Given the description of an element on the screen output the (x, y) to click on. 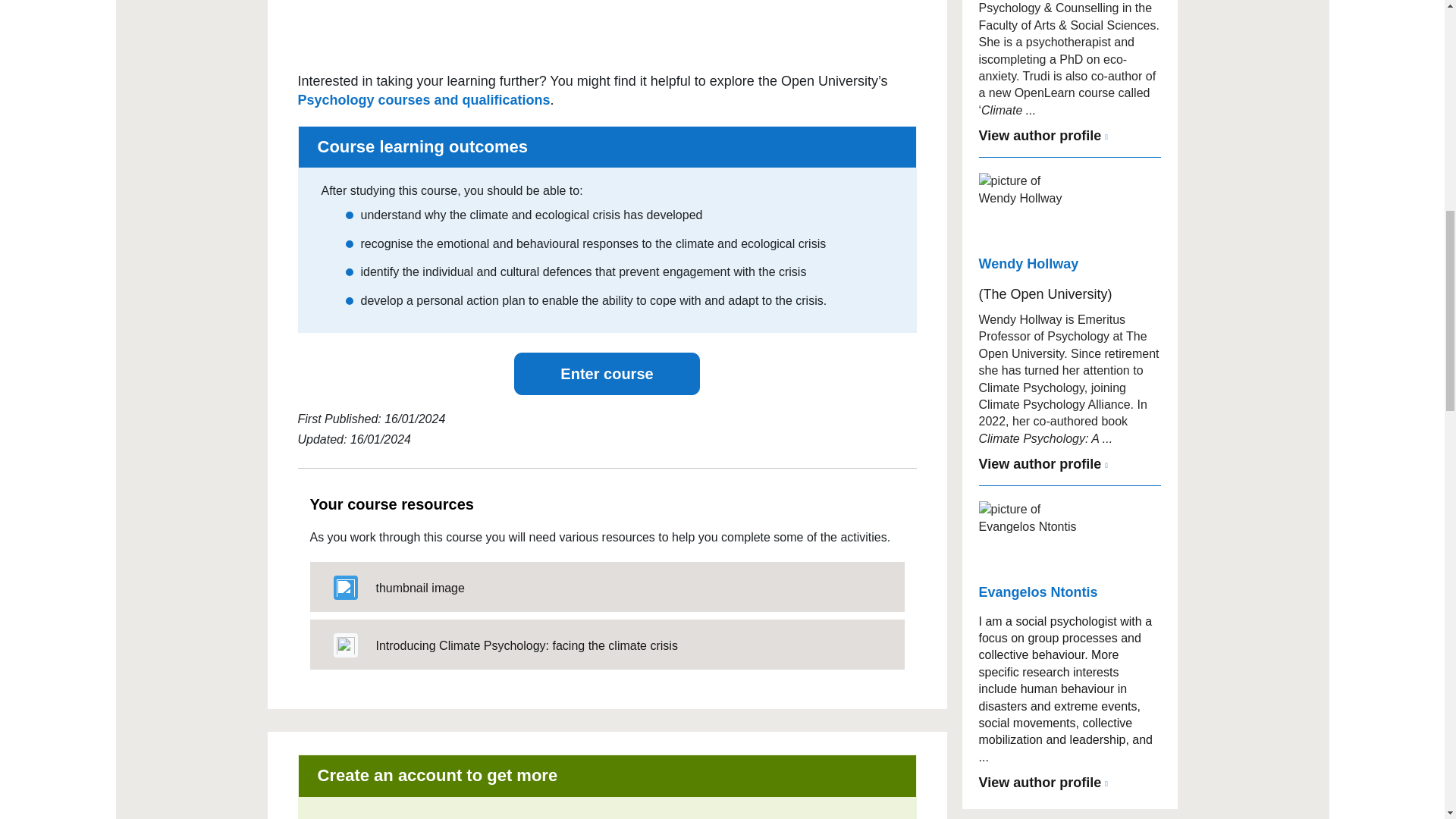
Enter course (605, 373)
